Given the description of an element on the screen output the (x, y) to click on. 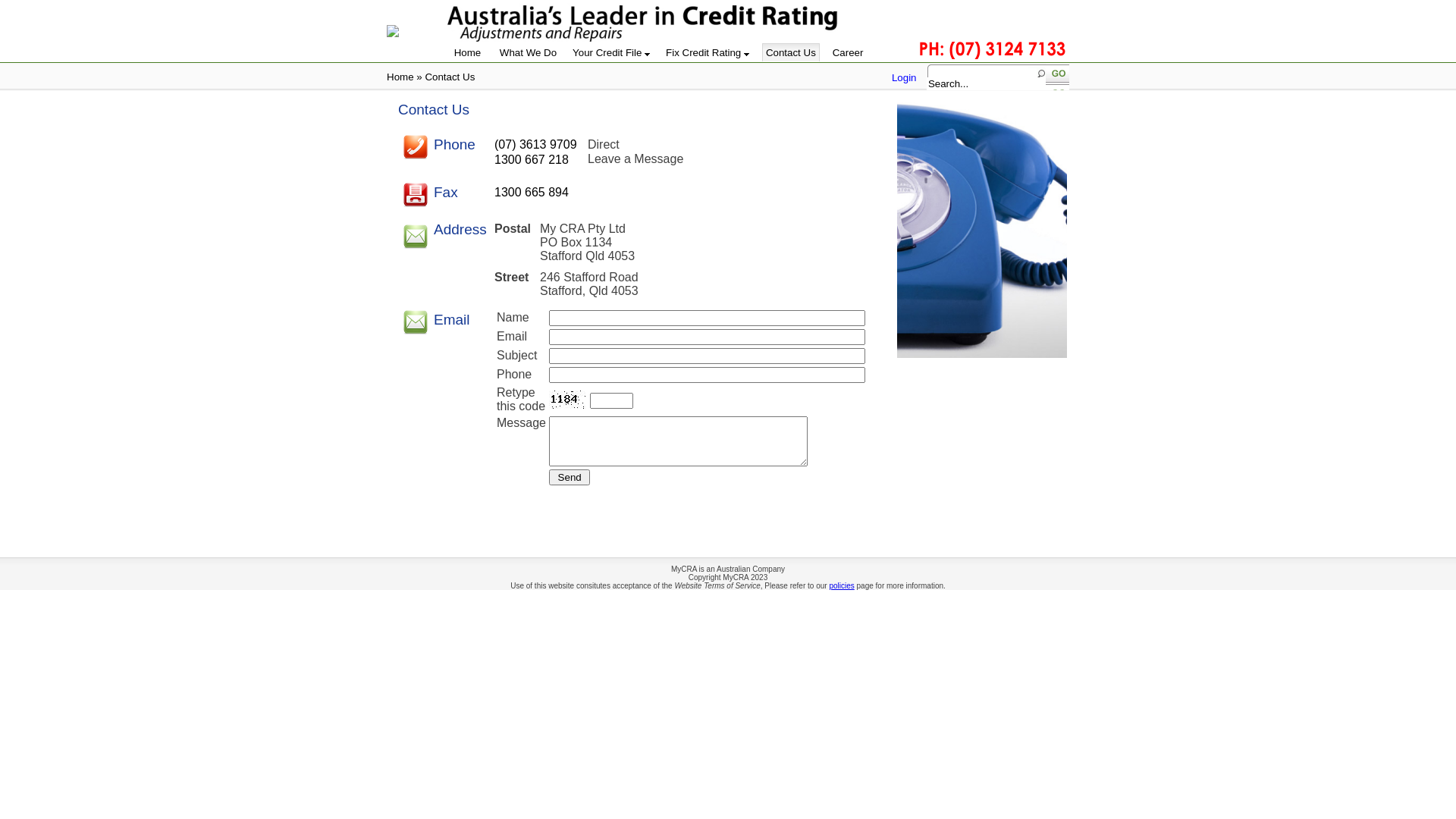
Login Element type: text (903, 77)
 Home  Element type: text (467, 52)
Search... Element type: text (985, 83)
Career  Element type: text (849, 52)
        Element type: text (1057, 76)
Contact Us Element type: text (790, 52)
Your Credit File  Element type: text (610, 52)
 Send  Element type: text (569, 477)
Fix Credit Rating  Element type: text (707, 52)
policies Element type: text (840, 585)
Home Element type: text (400, 76)
What We Do Element type: text (527, 52)
